Given the description of an element on the screen output the (x, y) to click on. 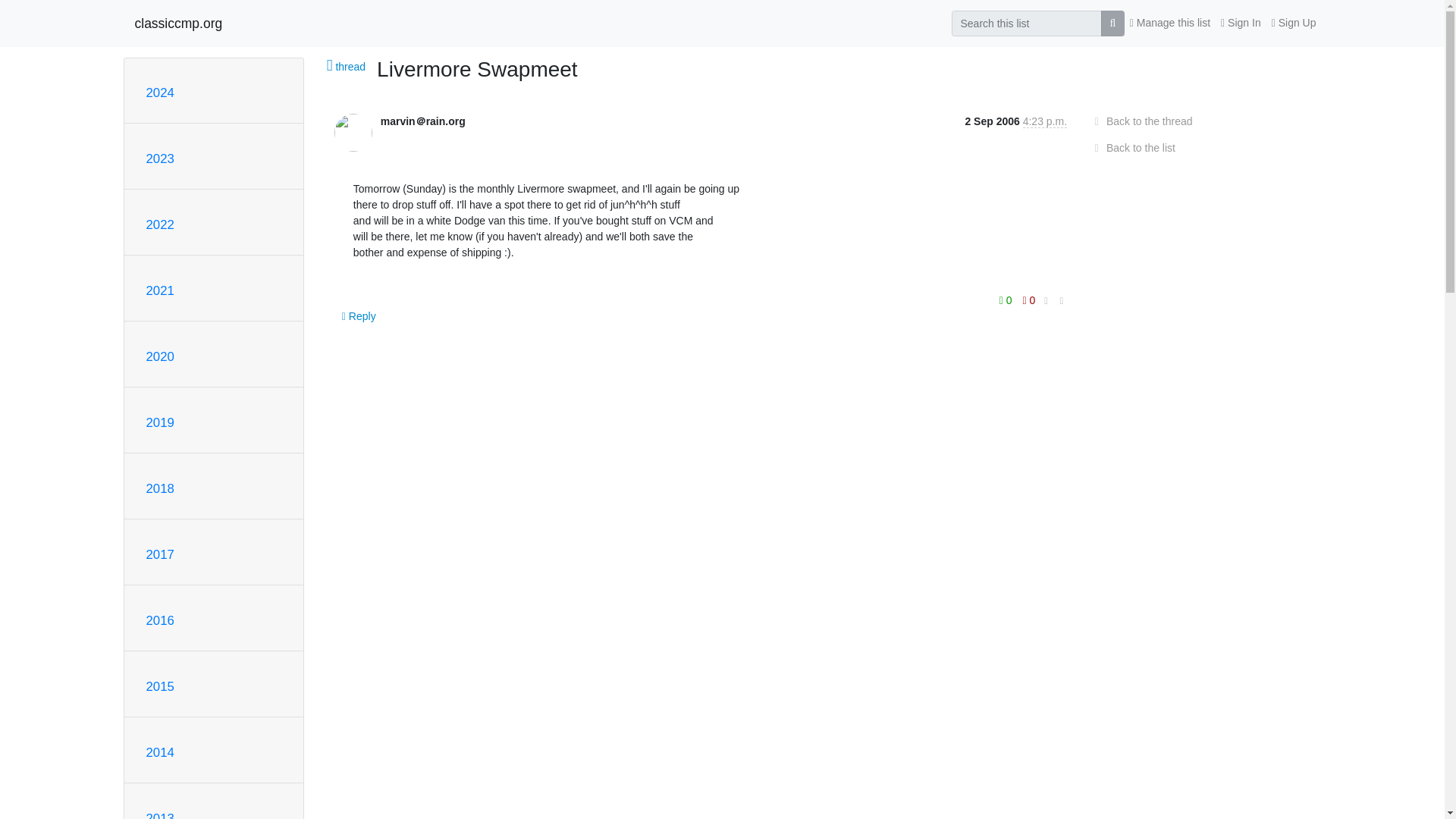
classiccmp.org (178, 22)
You must be logged-in to vote. (1007, 299)
Manage this list (1169, 22)
You must be logged-in to vote. (1029, 299)
Sign in to reply online (359, 315)
Sender's time: Sept. 2, 2006, 1:23 p.m. (1045, 121)
Sign In (1240, 22)
2023 (159, 158)
2022 (159, 224)
2024 (159, 92)
